Given the description of an element on the screen output the (x, y) to click on. 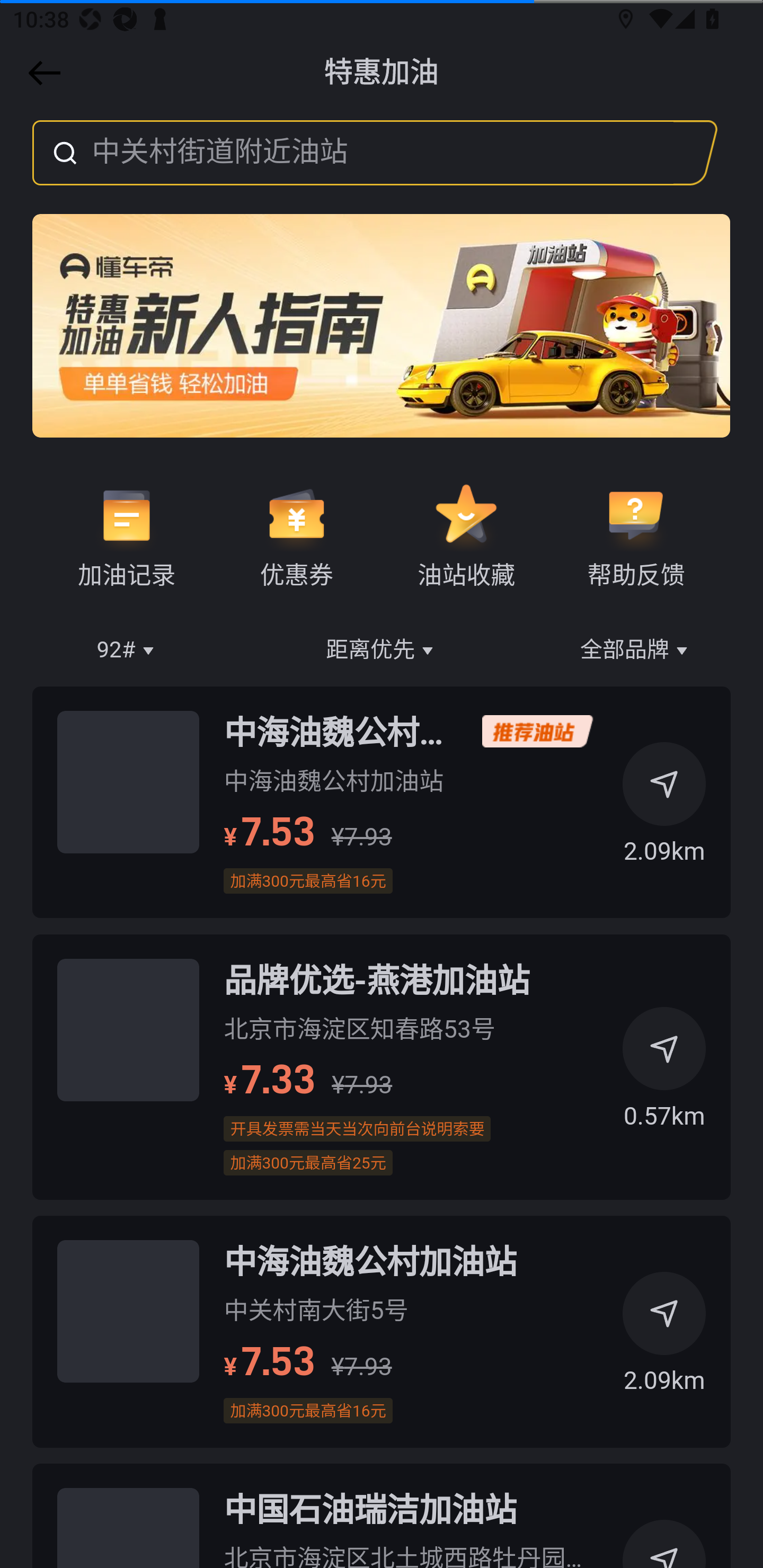
 (41, 72)
特惠加油 (381, 72)
中关村街道附近油站 (352, 152)
加油记录 (127, 535)
优惠券 (296, 535)
油站收藏 (466, 535)
帮助反馈 (635, 535)
92# (127, 650)
距离优先 (381, 650)
全部品牌 (635, 650)
2.09km (664, 809)
0.57km (664, 1075)
2.09km (664, 1339)
png 中国石油瑞洁加油站 北京市海淀区北土城西路牡丹园换到向东300米路南 (381, 1515)
